Given the description of an element on the screen output the (x, y) to click on. 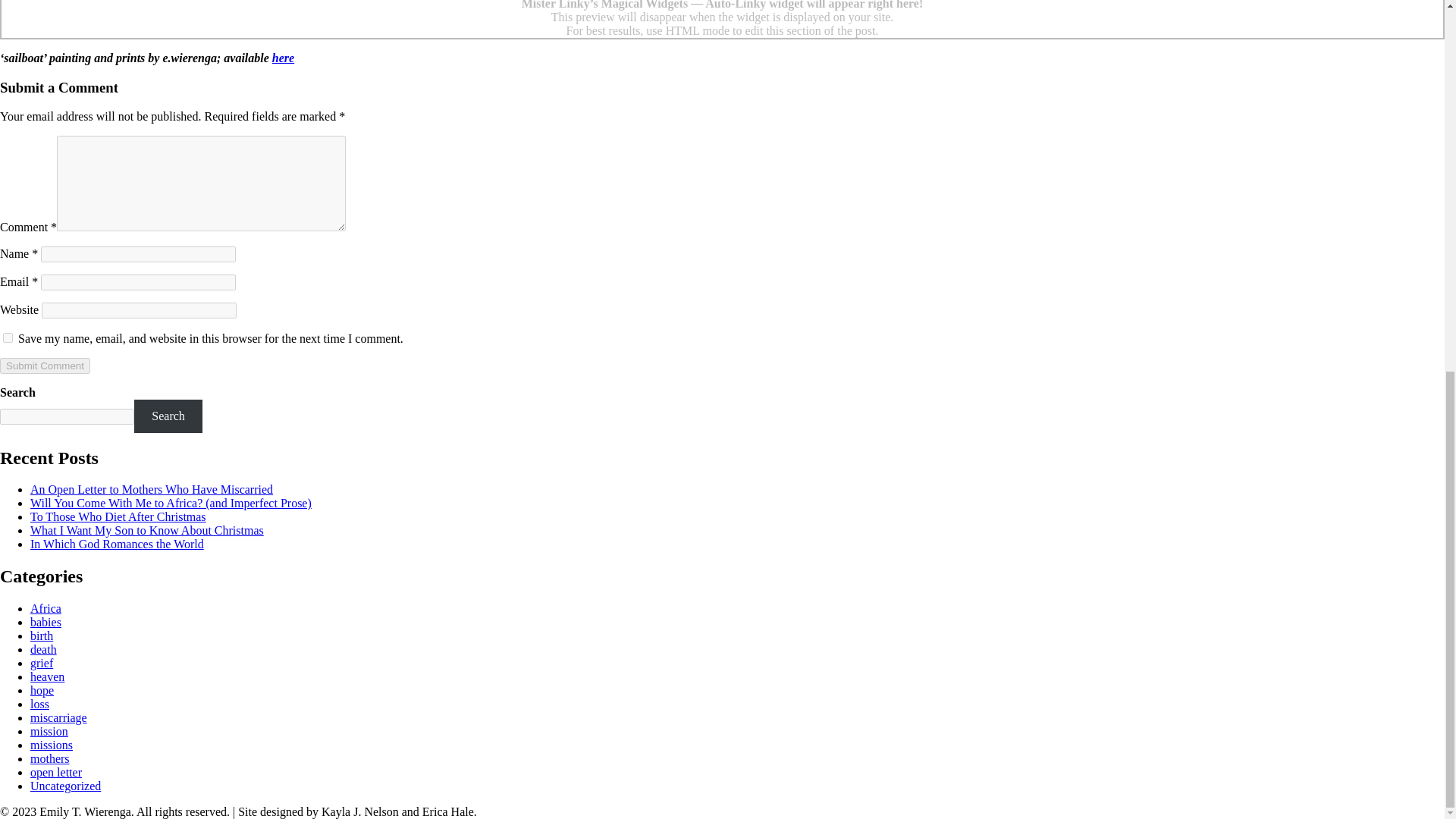
babies (45, 621)
heaven (47, 676)
grief (41, 662)
mission (49, 730)
hope (41, 689)
What I Want My Son to Know About Christmas (146, 530)
here (283, 57)
Submit Comment (45, 365)
In Which God Romances the World (116, 543)
missions (51, 744)
